Given the description of an element on the screen output the (x, y) to click on. 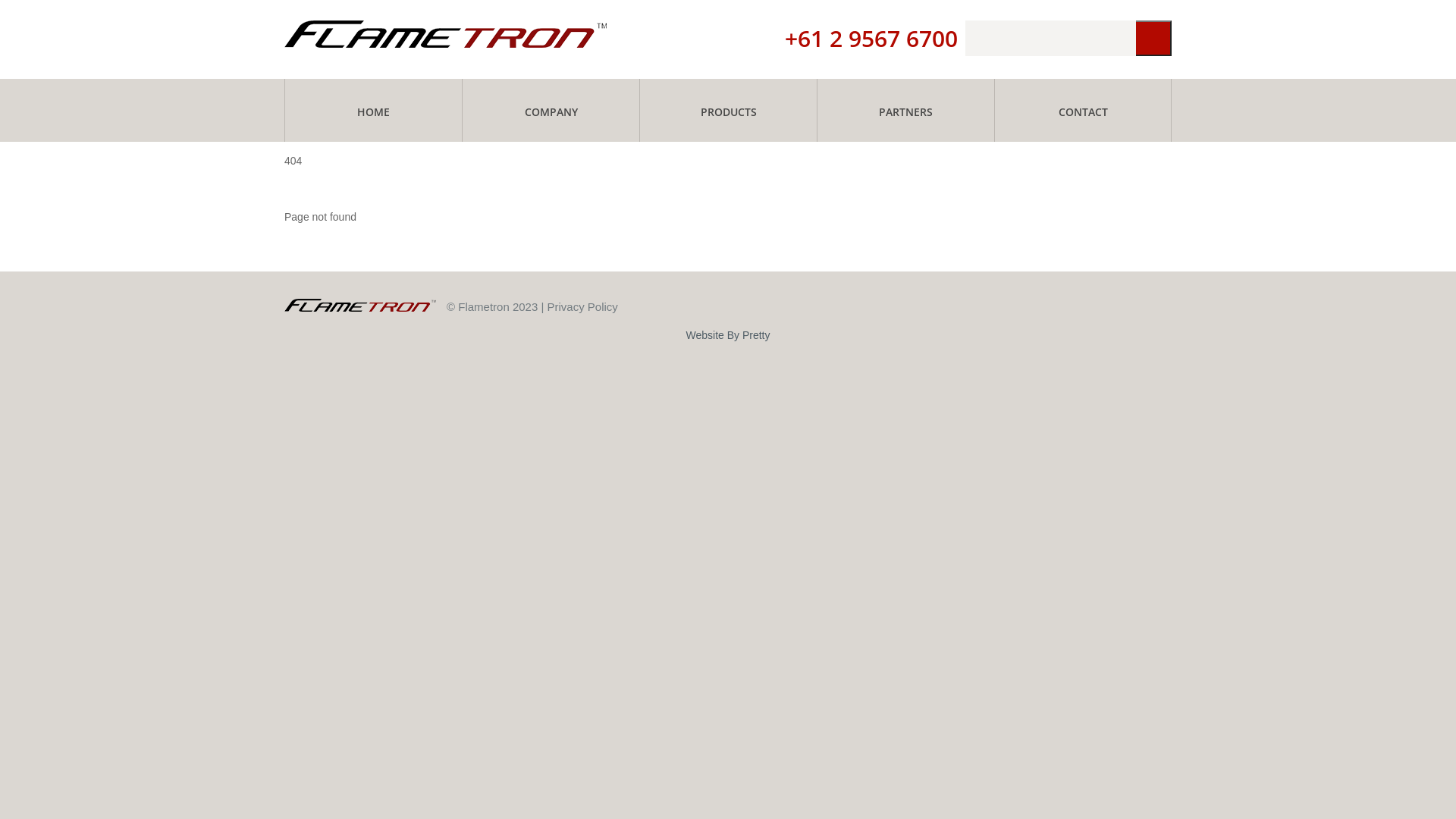
Pretty Element type: text (756, 335)
PRODUCTS Element type: text (728, 109)
CONTACT Element type: text (1082, 109)
Privacy Policy Element type: text (582, 306)
PARTNERS Element type: text (905, 109)
+61 2 9567 6700 Element type: text (870, 37)
HOME Element type: text (373, 109)
COMPANY Element type: text (550, 109)
